Given the description of an element on the screen output the (x, y) to click on. 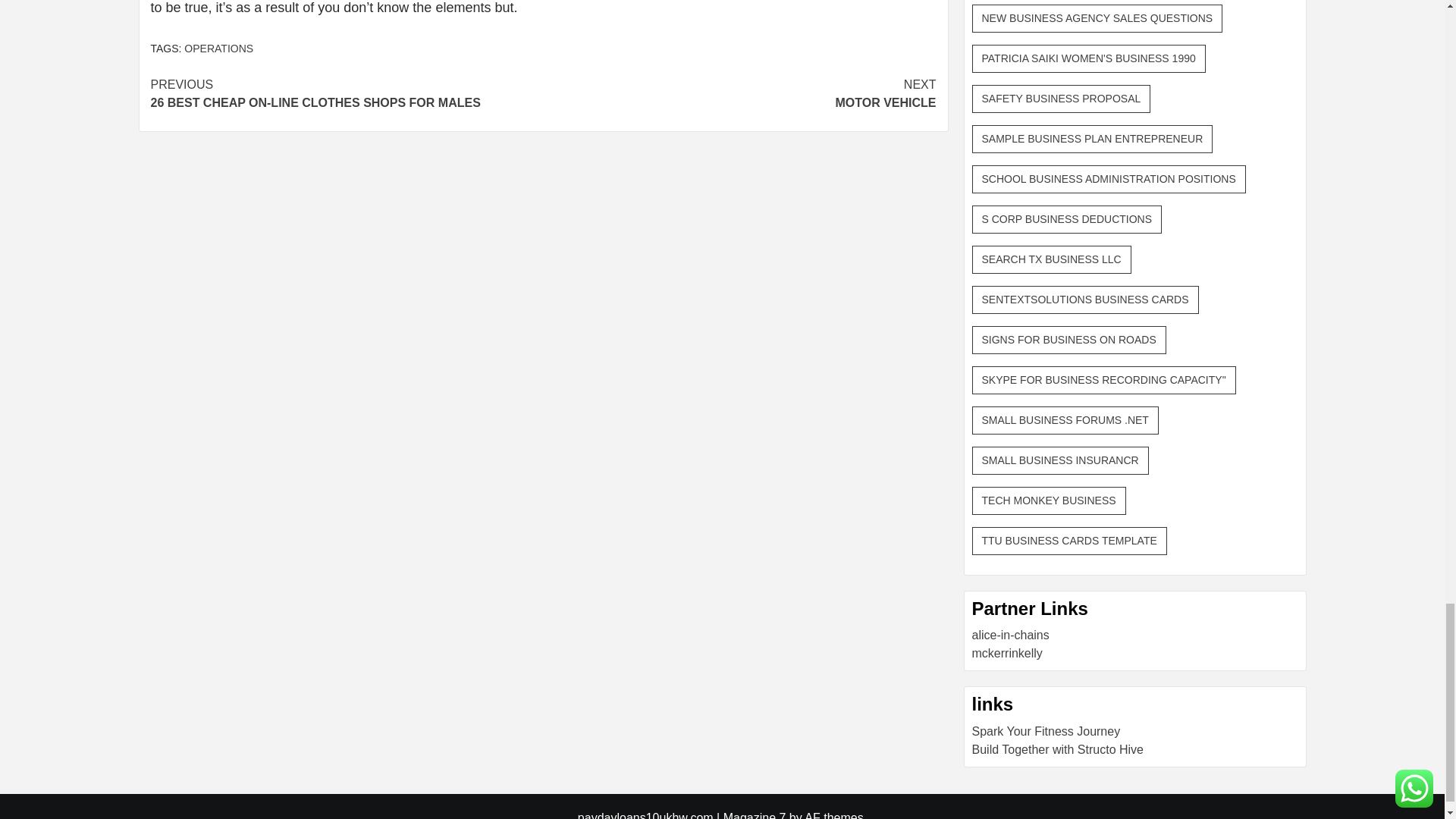
OPERATIONS (346, 94)
